Given the description of an element on the screen output the (x, y) to click on. 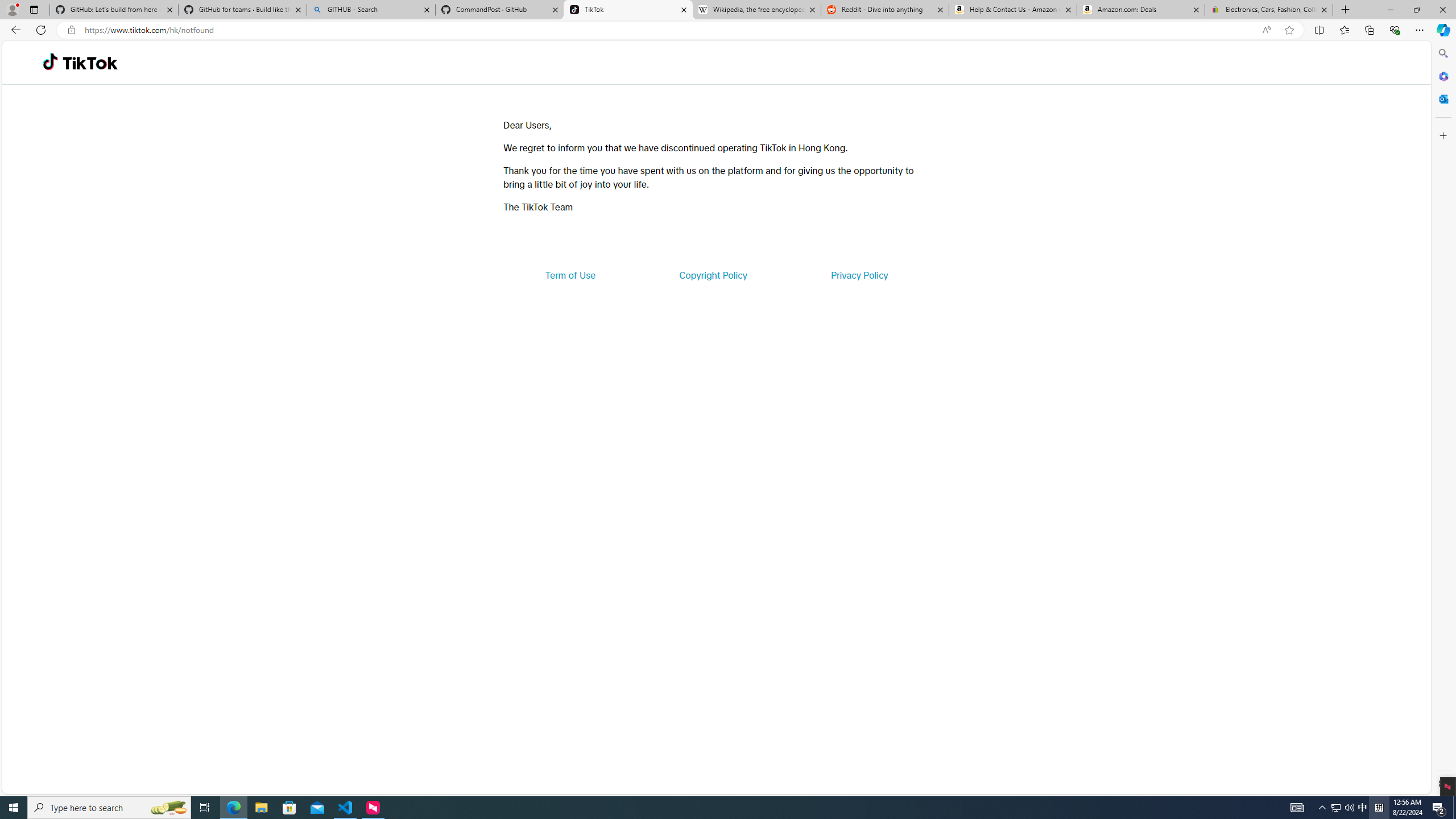
Electronics, Cars, Fashion, Collectibles & More | eBay (1268, 9)
Close Outlook pane (1442, 98)
Privacy Policy (858, 274)
App bar (728, 29)
Address and search bar (669, 29)
Term of Use (569, 274)
